Given the description of an element on the screen output the (x, y) to click on. 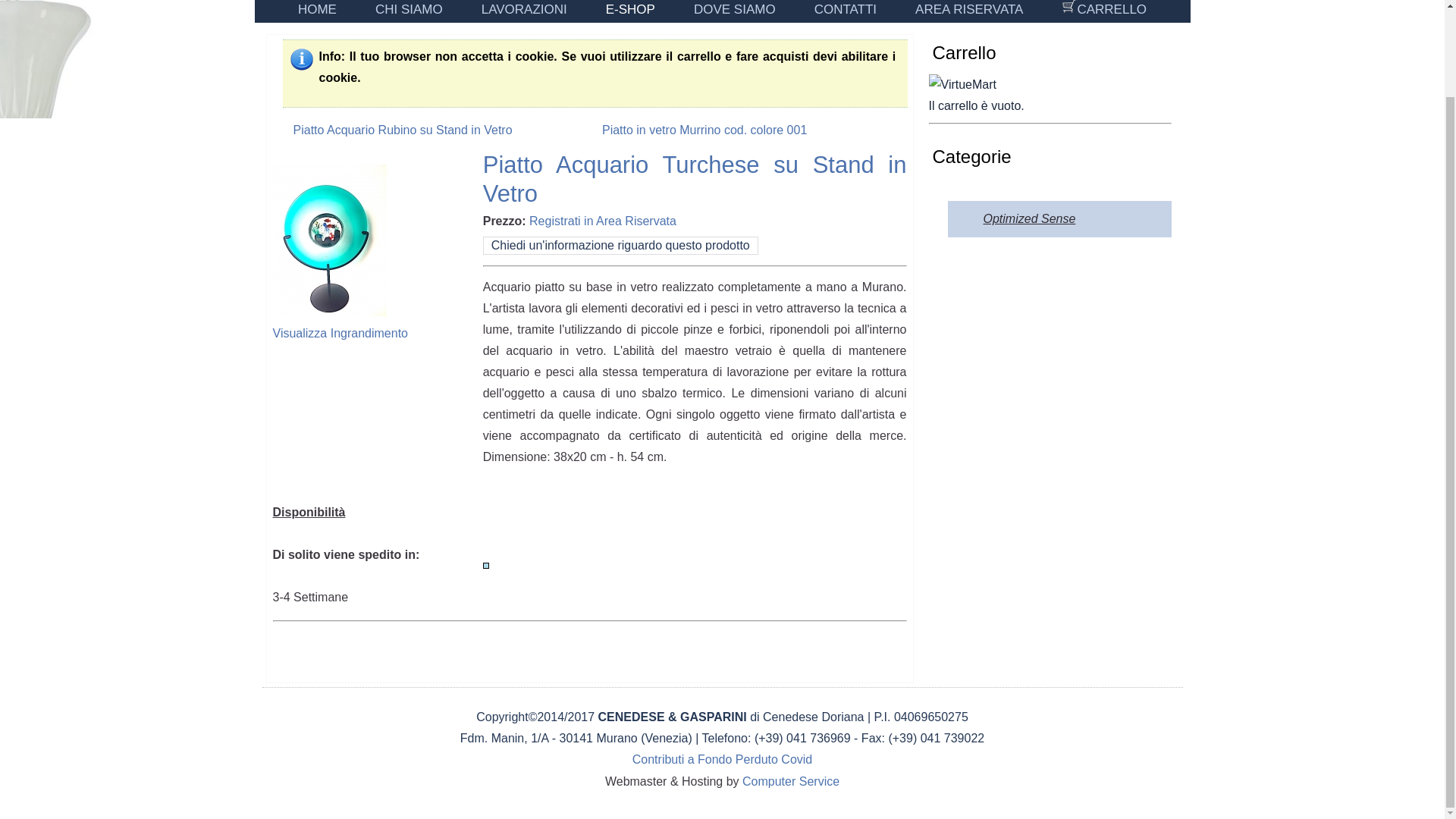
CHI SIAMO (408, 11)
Piatto Acquario Turchese su Stand in Vetro (340, 322)
Registrati in Area Riservata (603, 220)
Chiedi un'informazione riguardo questo prodotto (620, 245)
Visualizza Ingrandimento (340, 322)
CONTATTI (844, 11)
E-SHOP (630, 11)
Piatto Acquario Rubino su Stand in Vetro (390, 129)
HOME (317, 11)
CARRELLO (1104, 11)
